Given the description of an element on the screen output the (x, y) to click on. 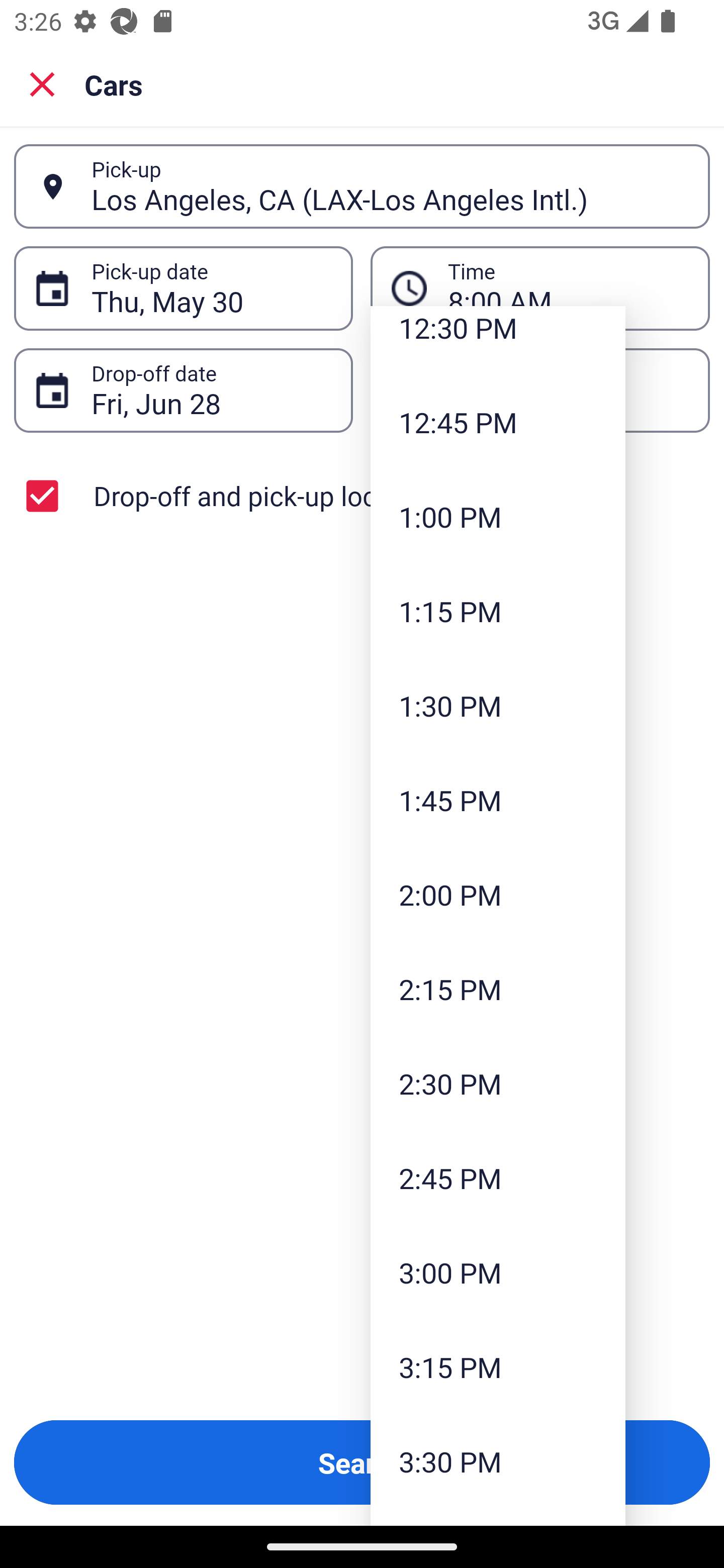
12:30 PM (497, 339)
12:45 PM (497, 421)
1:00 PM (497, 516)
1:15 PM (497, 611)
1:30 PM (497, 705)
1:45 PM (497, 799)
2:00 PM (497, 894)
2:15 PM (497, 989)
2:30 PM (497, 1083)
2:45 PM (497, 1177)
3:00 PM (497, 1272)
3:15 PM (497, 1367)
3:30 PM (497, 1461)
